Given the description of an element on the screen output the (x, y) to click on. 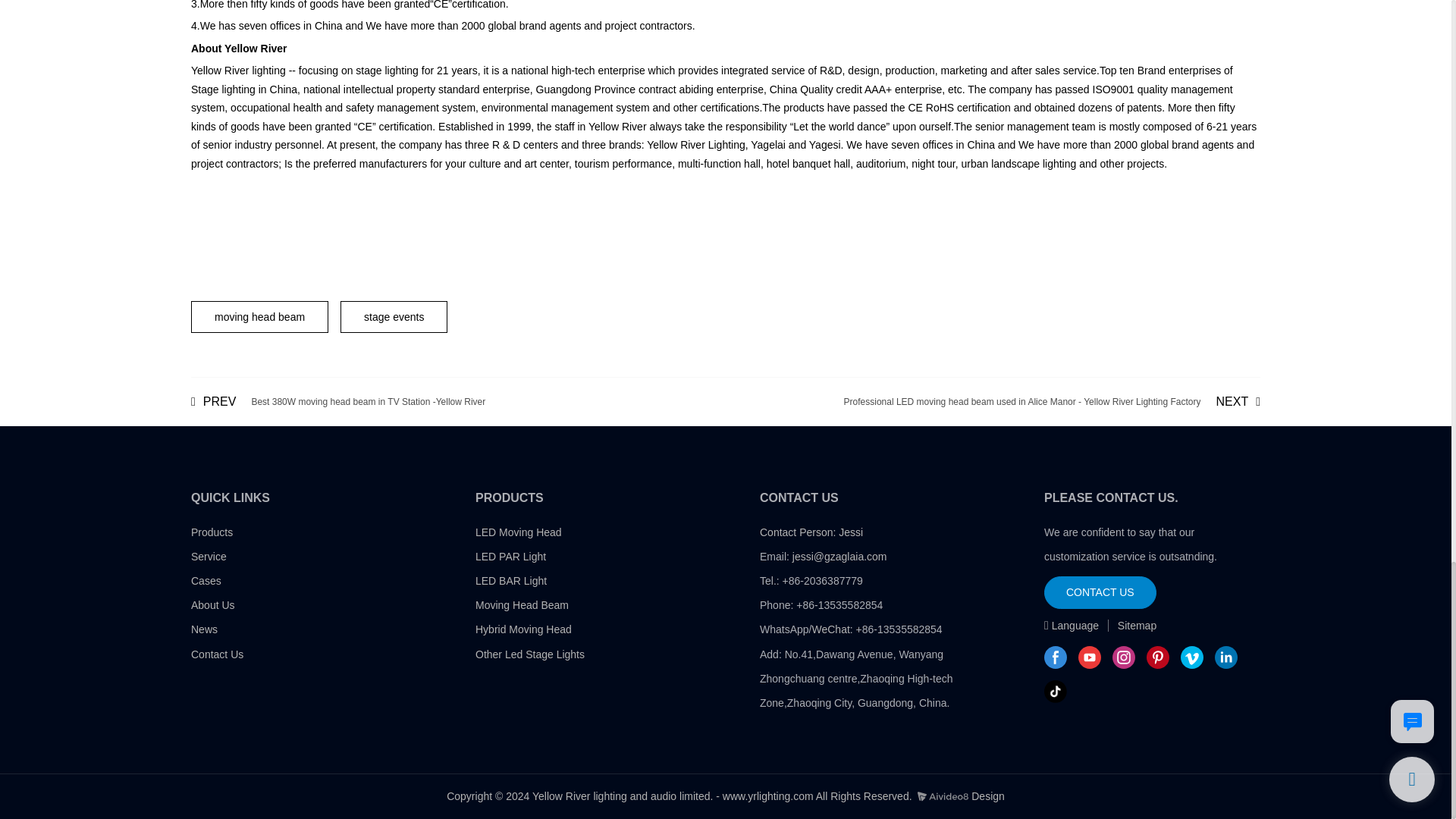
moving head beam (259, 316)
Best 380W moving head beam in TV Station -Yellow River (337, 401)
stage events (337, 401)
